Given the description of an element on the screen output the (x, y) to click on. 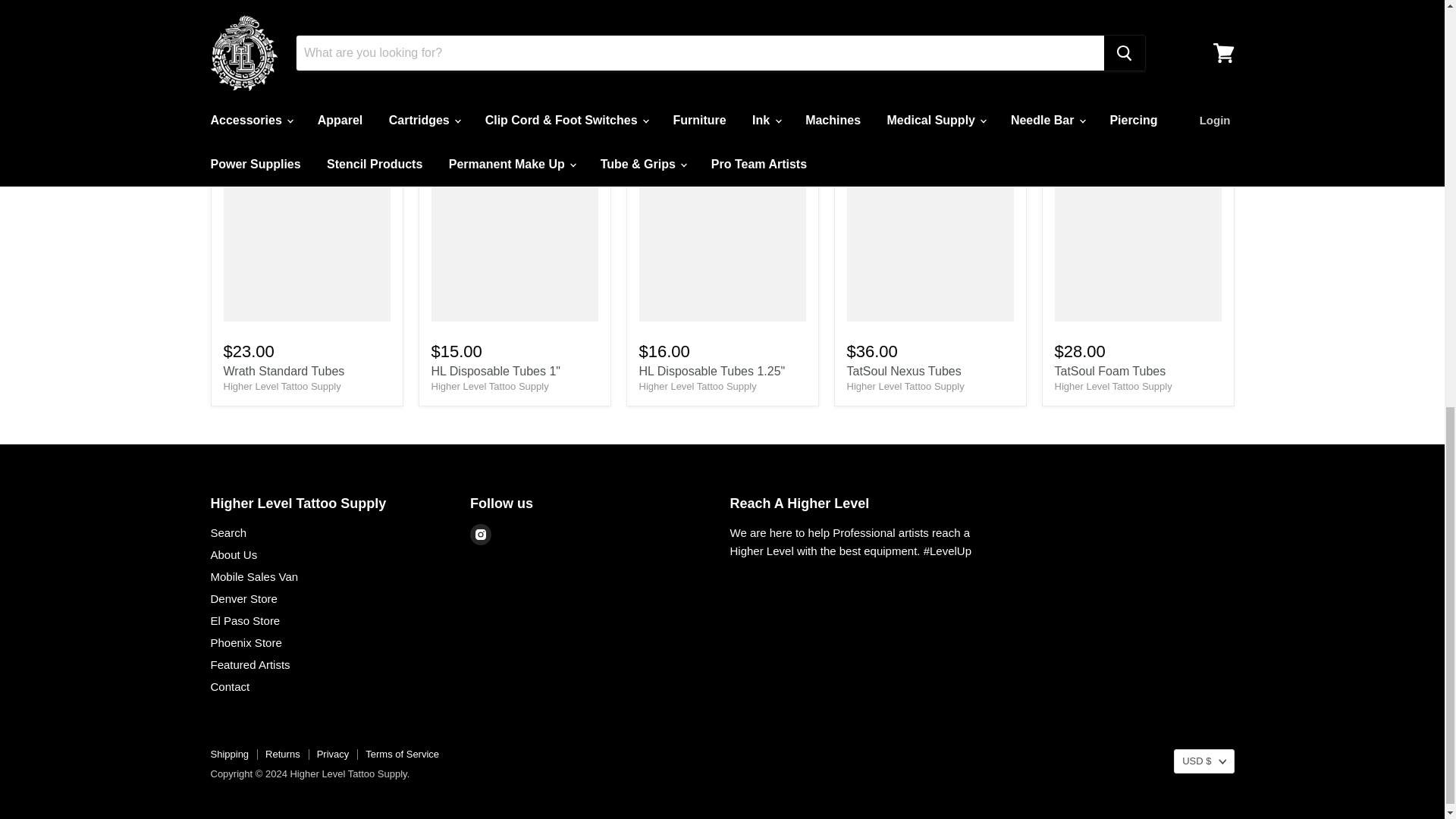
Higher Level Tattoo Supply (281, 386)
Higher Level Tattoo Supply (904, 386)
Higher Level Tattoo Supply (1113, 386)
Higher Level Tattoo Supply (697, 386)
Instagram (481, 534)
Higher Level Tattoo Supply (489, 386)
